Given the description of an element on the screen output the (x, y) to click on. 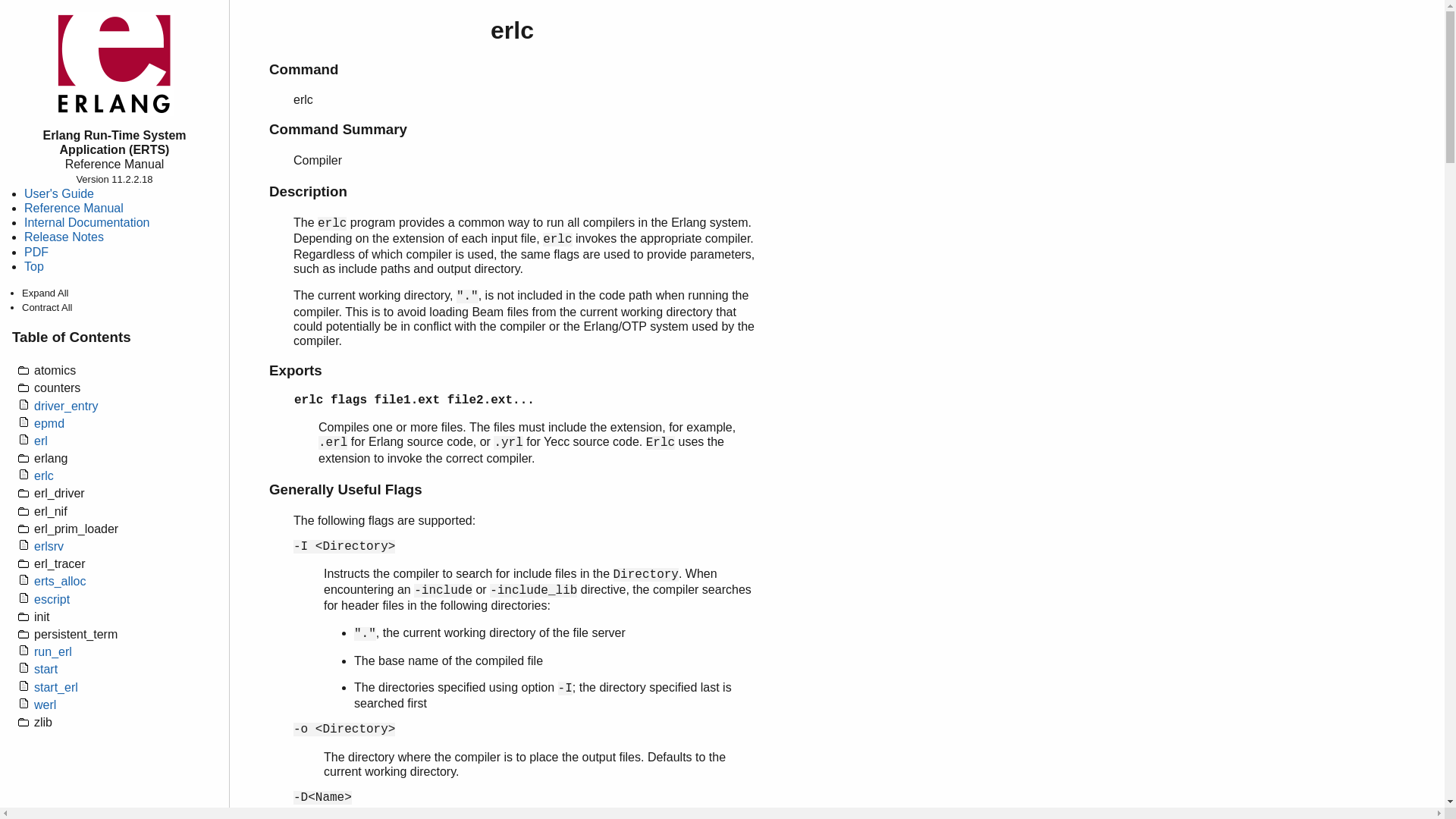
Internal Documentation (86, 222)
erl (40, 440)
Expand All (44, 292)
epmd (124, 421)
Release Notes (63, 236)
epmd (48, 422)
Reference Manual (73, 207)
User's Guide (59, 193)
Contract All (46, 307)
Top (33, 266)
PDF (36, 251)
atomics  (124, 368)
counters  (124, 385)
